Given the description of an element on the screen output the (x, y) to click on. 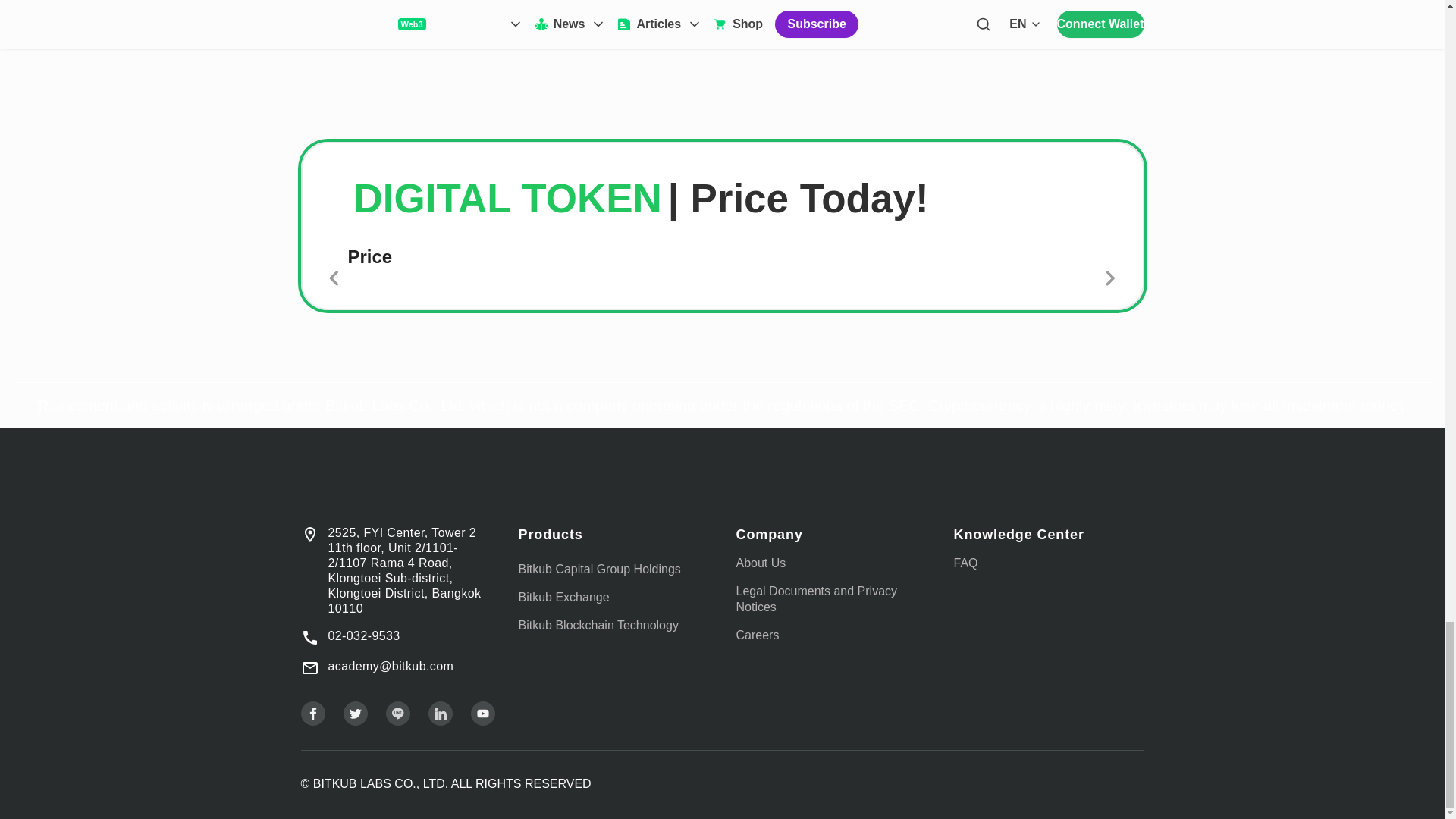
LinkedIn (439, 713)
Bitkub Capital Group Holdings (599, 568)
Legal Documents and Privacy Notices (815, 598)
Twitter (354, 713)
Bitkub Exchange (564, 596)
FAQ (965, 562)
Bitkub Blockchain Technology (598, 625)
Line (397, 713)
Youtube (482, 713)
Facebook (311, 713)
